Given the description of an element on the screen output the (x, y) to click on. 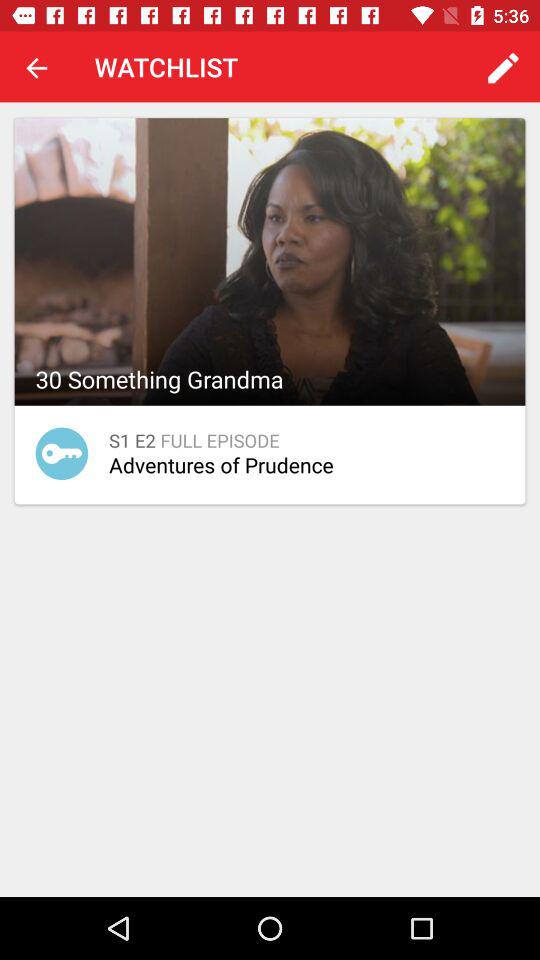
choose the app to the left of the watchlist item (36, 67)
